Given the description of an element on the screen output the (x, y) to click on. 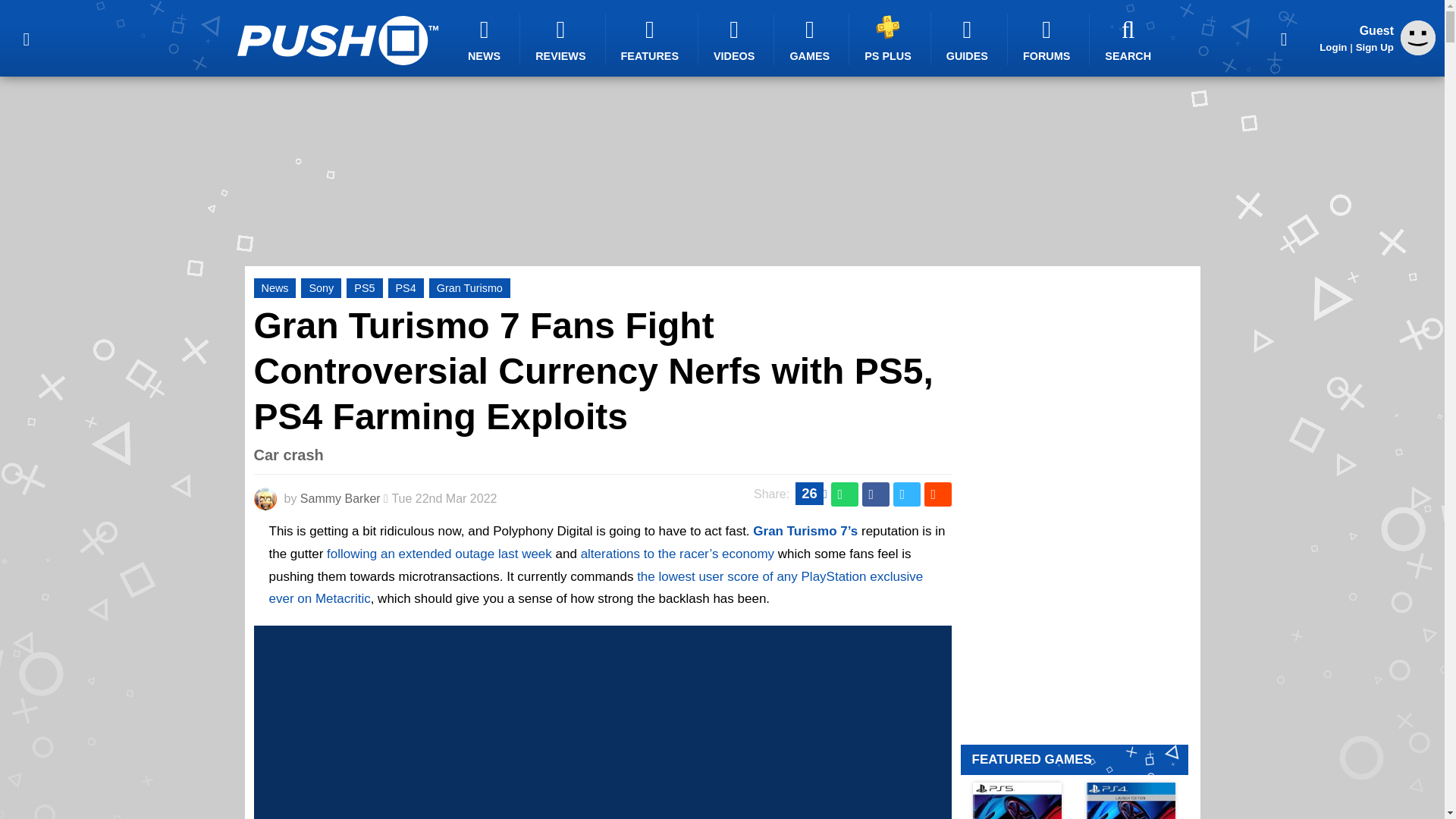
NEWS (485, 39)
VIDEOS (736, 39)
REVIEWS (562, 39)
FEATURES (651, 39)
SEARCH (1129, 39)
PS PLUS (889, 38)
Menu (26, 37)
Login (1332, 47)
GUIDES (969, 39)
FORUMS (1048, 39)
Guest (1417, 37)
Push Square (336, 40)
GAMES (811, 39)
Sign Up (1374, 47)
Share This Page (1283, 37)
